Given the description of an element on the screen output the (x, y) to click on. 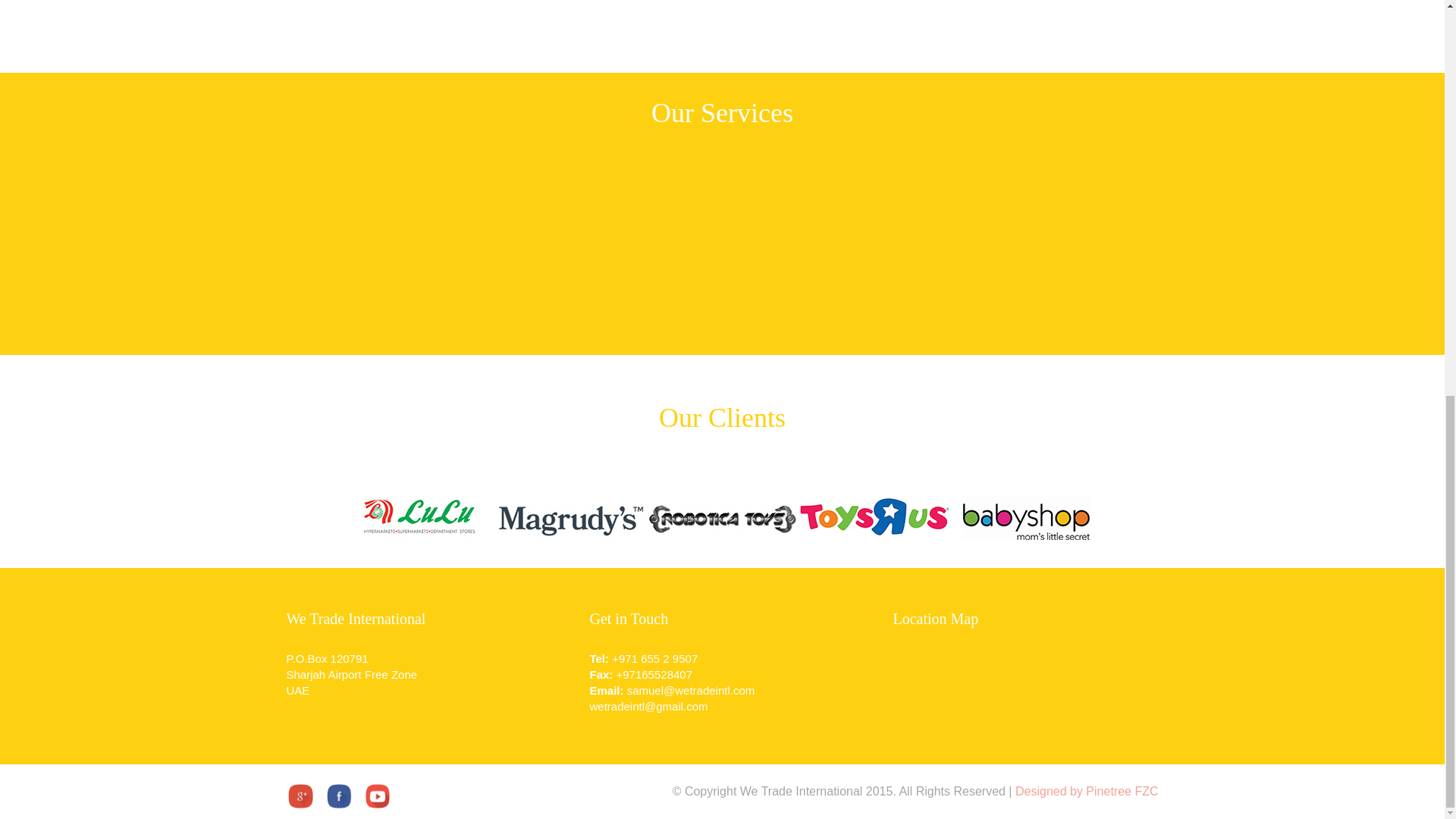
Designed by Pinetree FZC (1086, 790)
MORE (800, 136)
